Given the description of an element on the screen output the (x, y) to click on. 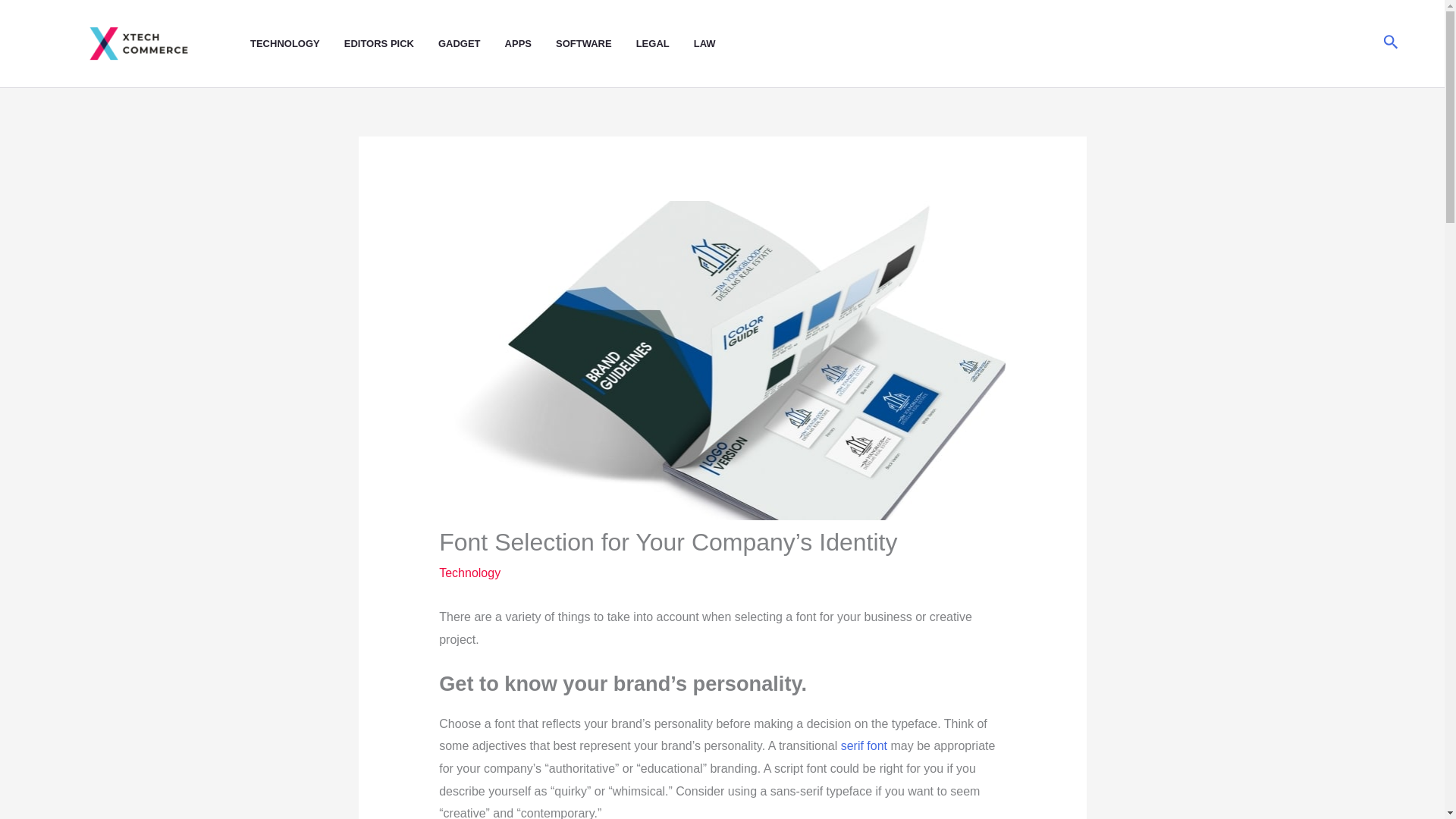
TECHNOLOGY (296, 43)
serif font (861, 745)
EDITORS PICK (390, 43)
SOFTWARE (596, 43)
Technology (469, 572)
